Given the description of an element on the screen output the (x, y) to click on. 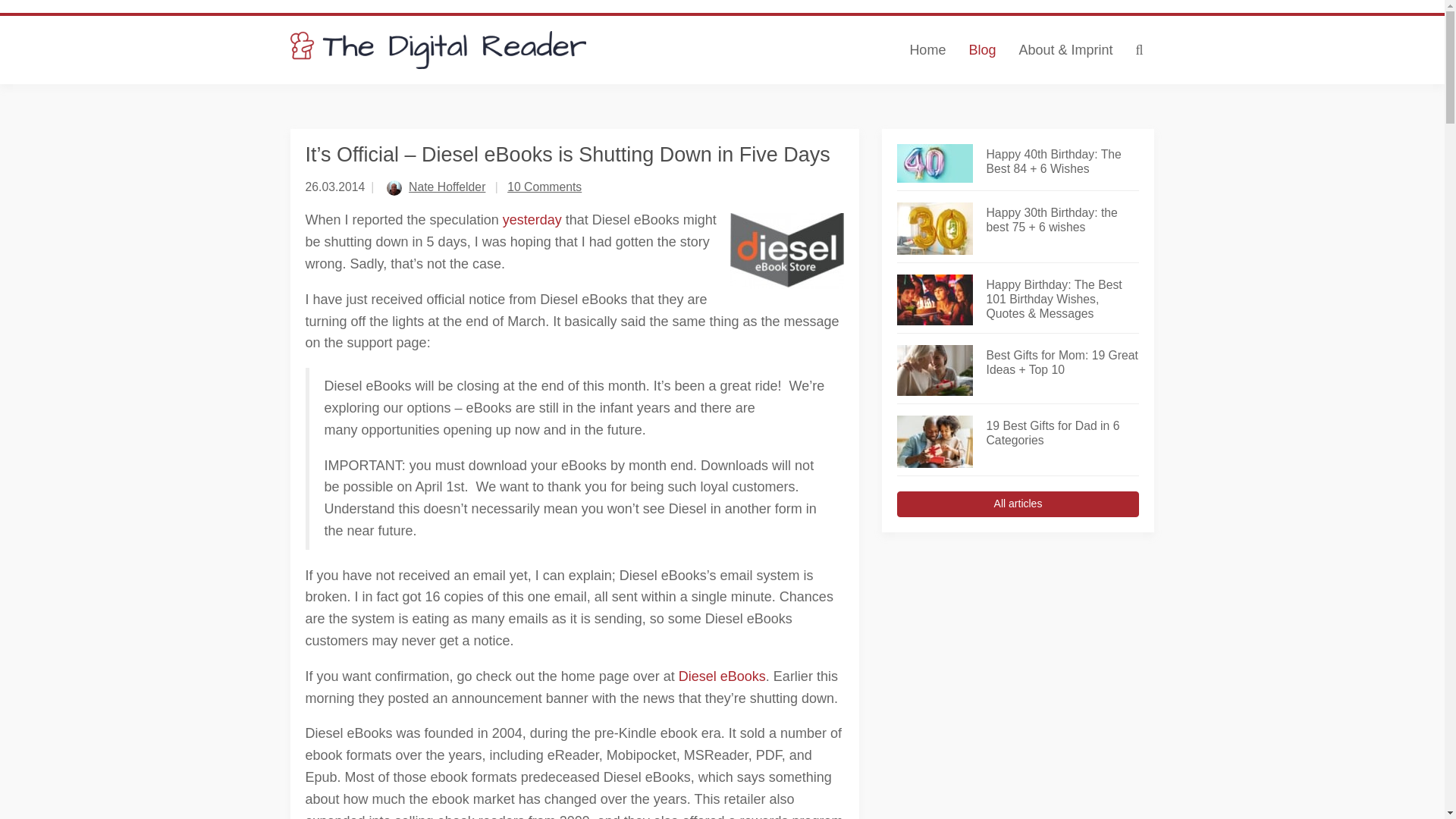
The Digital Reader (437, 49)
yesterday (532, 219)
Blog (981, 49)
Home (927, 49)
Diesel eBooks (721, 676)
Nate Hoffelder (446, 186)
10 Comments (543, 186)
